Given the description of an element on the screen output the (x, y) to click on. 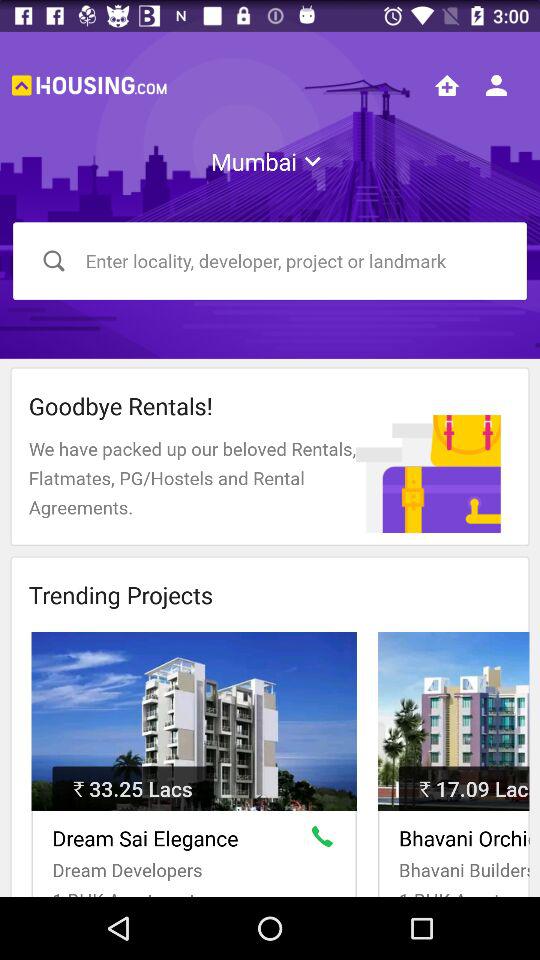
call property (326, 840)
